Given the description of an element on the screen output the (x, y) to click on. 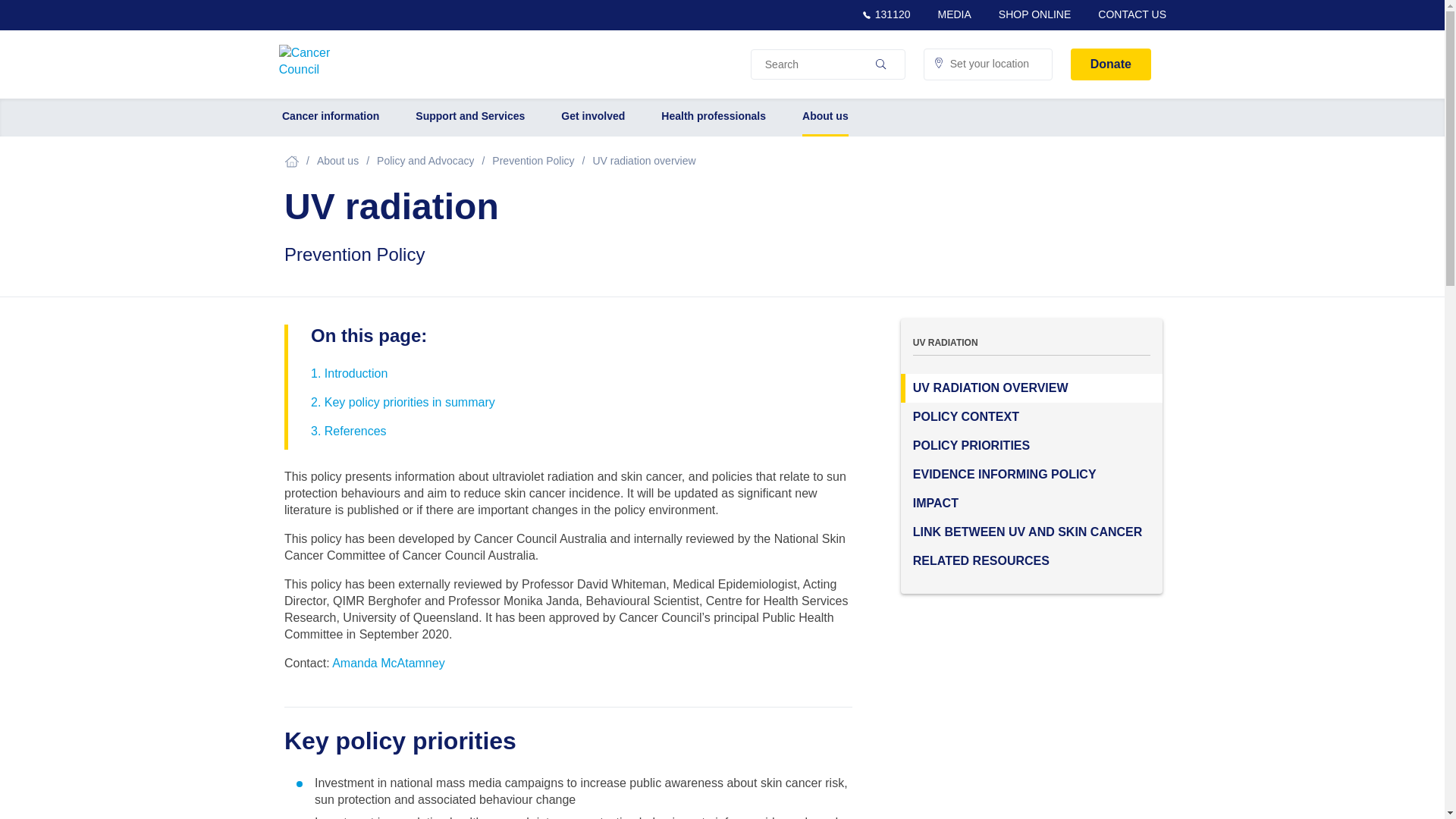
Cancer information (330, 117)
CONTACT US (1131, 14)
MEDIA (954, 14)
SHOP ONLINE (1034, 14)
Donate (1110, 64)
131120 (886, 14)
